Given the description of an element on the screen output the (x, y) to click on. 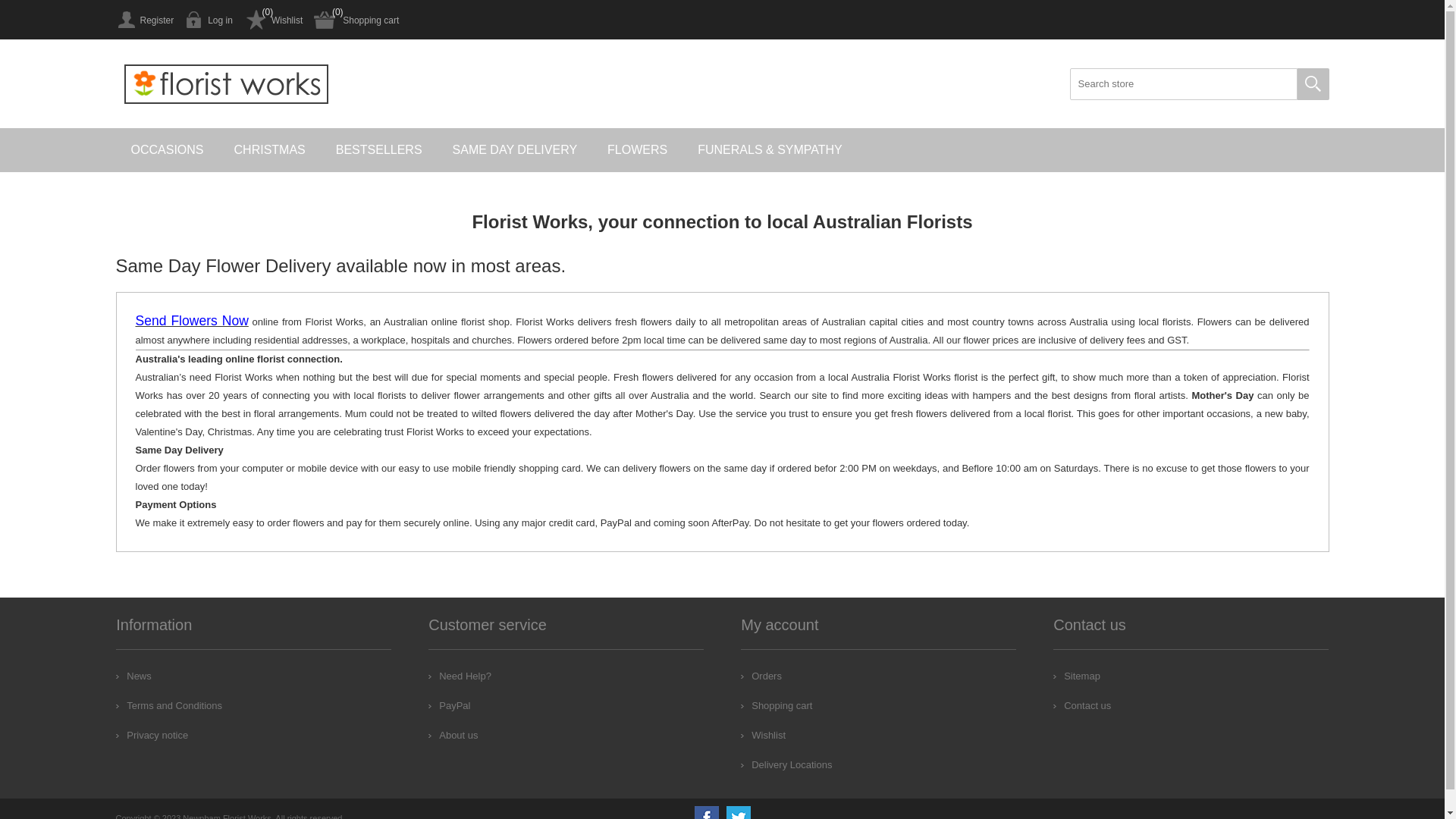
SAME DAY DELIVERY Element type: text (515, 150)
BESTSELLERS Element type: text (378, 150)
FUNERALS & SYMPATHY Element type: text (769, 150)
Sitemap Element type: text (1076, 675)
Shopping cart Element type: text (355, 19)
About us Element type: text (452, 734)
Send Flowers Now Element type: text (190, 321)
Search Element type: text (1312, 84)
Orders Element type: text (760, 675)
Need Help? Element type: text (459, 675)
Terms and Conditions Element type: text (169, 705)
PayPal Element type: text (449, 705)
Delivery Locations Element type: text (785, 764)
Register Element type: text (144, 19)
News Element type: text (133, 675)
Privacy notice Element type: text (152, 734)
Contact us Element type: text (1081, 705)
FLOWERS Element type: text (637, 150)
CHRISTMAS Element type: text (269, 150)
Shopping cart Element type: text (776, 705)
Wishlist Element type: text (762, 734)
Log in Element type: text (208, 19)
Wishlist Element type: text (273, 19)
OCCASIONS Element type: text (166, 150)
